Given the description of an element on the screen output the (x, y) to click on. 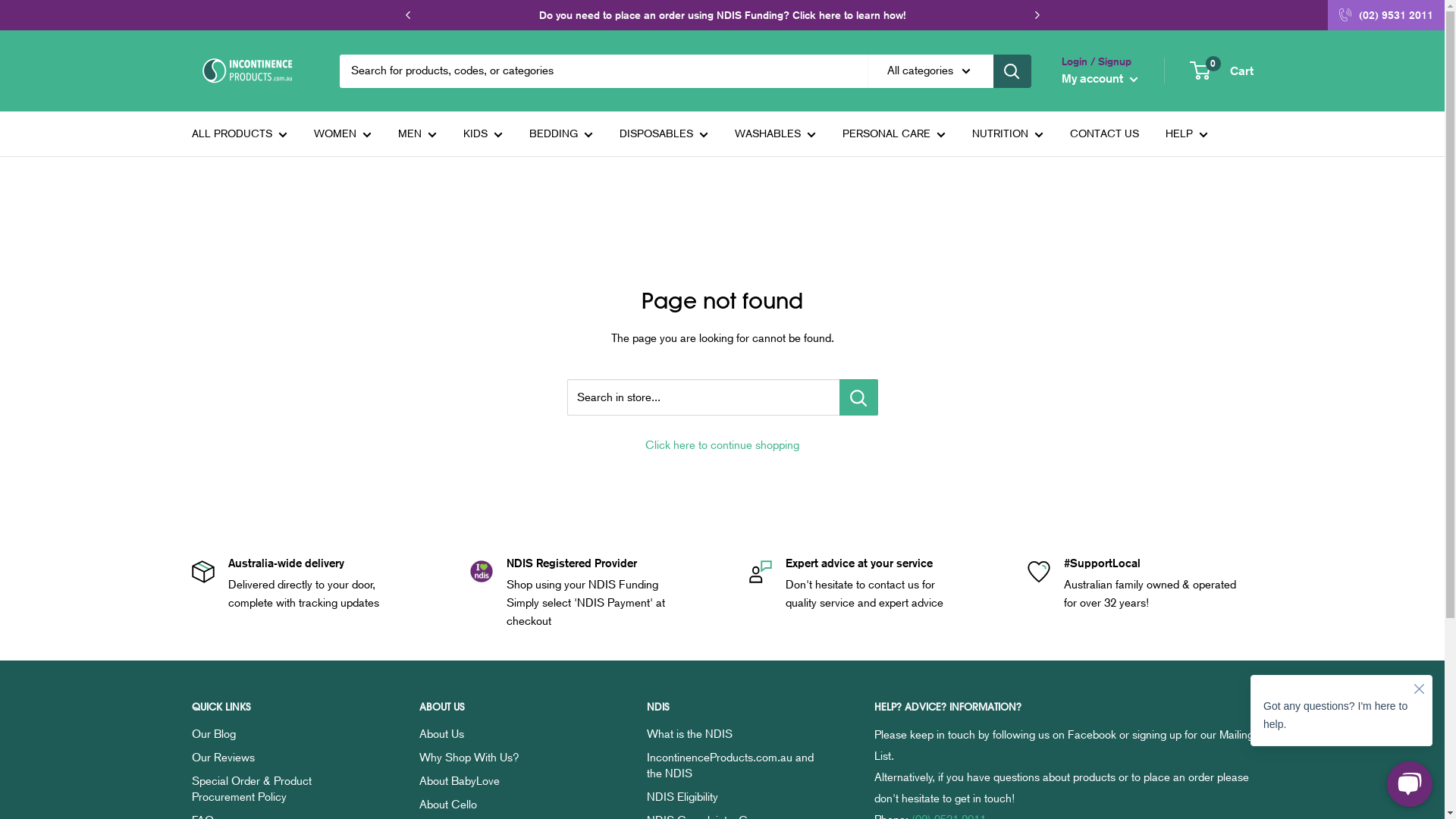
PERSONAL CARE Element type: text (892, 133)
Special Order & Product Procurement Policy Element type: text (278, 788)
Our Blog Element type: text (278, 733)
QUICK LINKS Element type: text (278, 706)
HELP Element type: text (1185, 133)
NDIS Eligibility Element type: text (733, 797)
IncontinenceProducts.com.au and the NDIS Element type: text (733, 765)
About Cello Element type: text (505, 804)
What is the NDIS Element type: text (733, 733)
My account Element type: text (1099, 78)
WOMEN Element type: text (342, 133)
0
Cart Element type: text (1221, 70)
NUTRITION Element type: text (1007, 133)
(02) 9531 2011 Element type: text (1395, 14)
NDIS Element type: text (733, 706)
Why Shop With Us? Element type: text (505, 757)
WASHABLES Element type: text (774, 133)
KIDS Element type: text (482, 133)
About BabyLove Element type: text (505, 780)
ALL PRODUCTS Element type: text (238, 133)
Click here to continue shopping Element type: text (722, 444)
CONTACT US Element type: text (1103, 133)
IncontinenceProducts.com.au Element type: text (249, 70)
DISPOSABLES Element type: text (662, 133)
BEDDING Element type: text (561, 133)
MEN Element type: text (416, 133)
About Us Element type: text (505, 733)
ABOUT US Element type: text (505, 706)
Our Reviews Element type: text (278, 757)
HELP? ADVICE? INFORMATION? Element type: text (1062, 706)
